Given the description of an element on the screen output the (x, y) to click on. 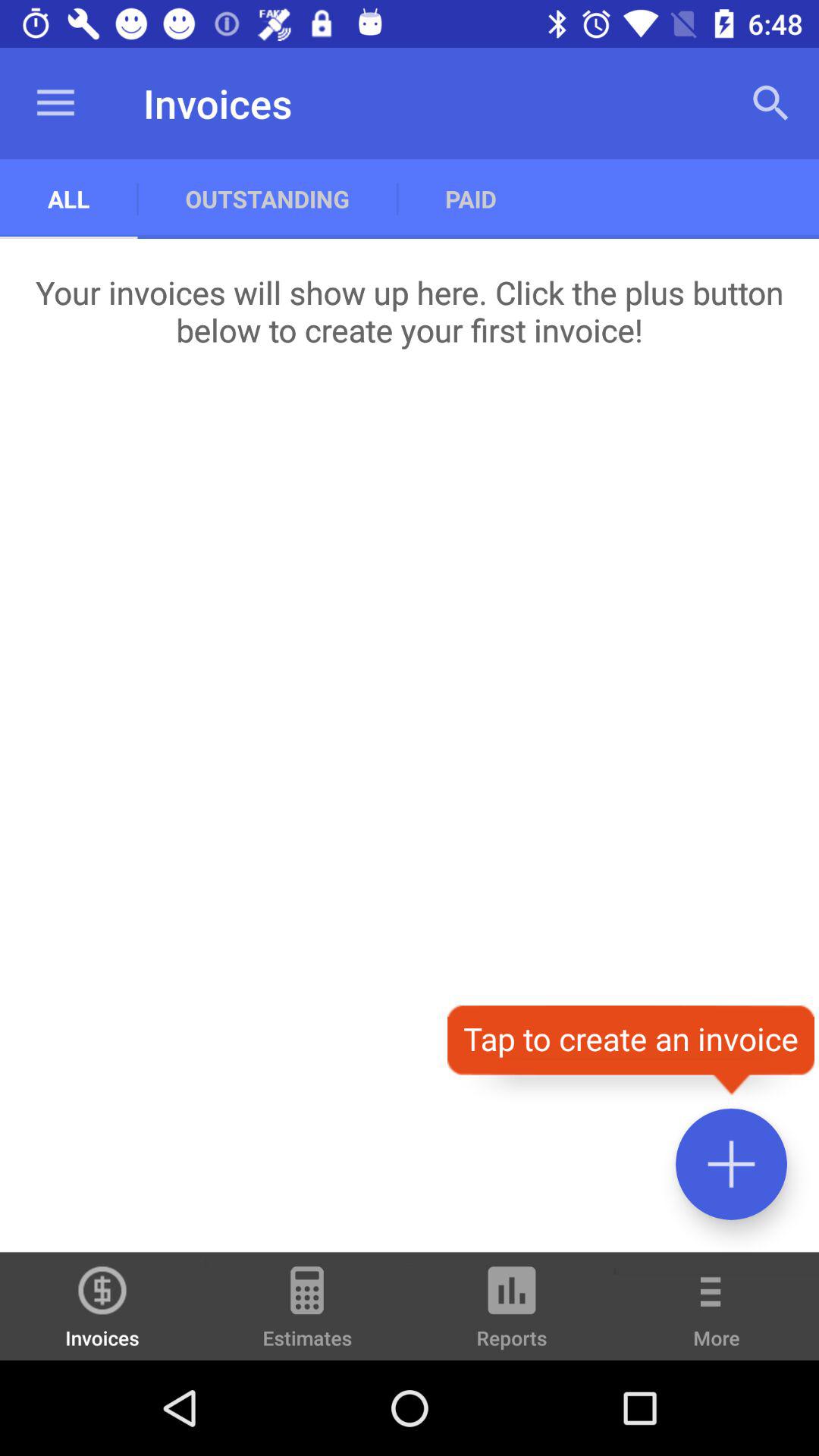
choose the app to the right of the all app (267, 198)
